Given the description of an element on the screen output the (x, y) to click on. 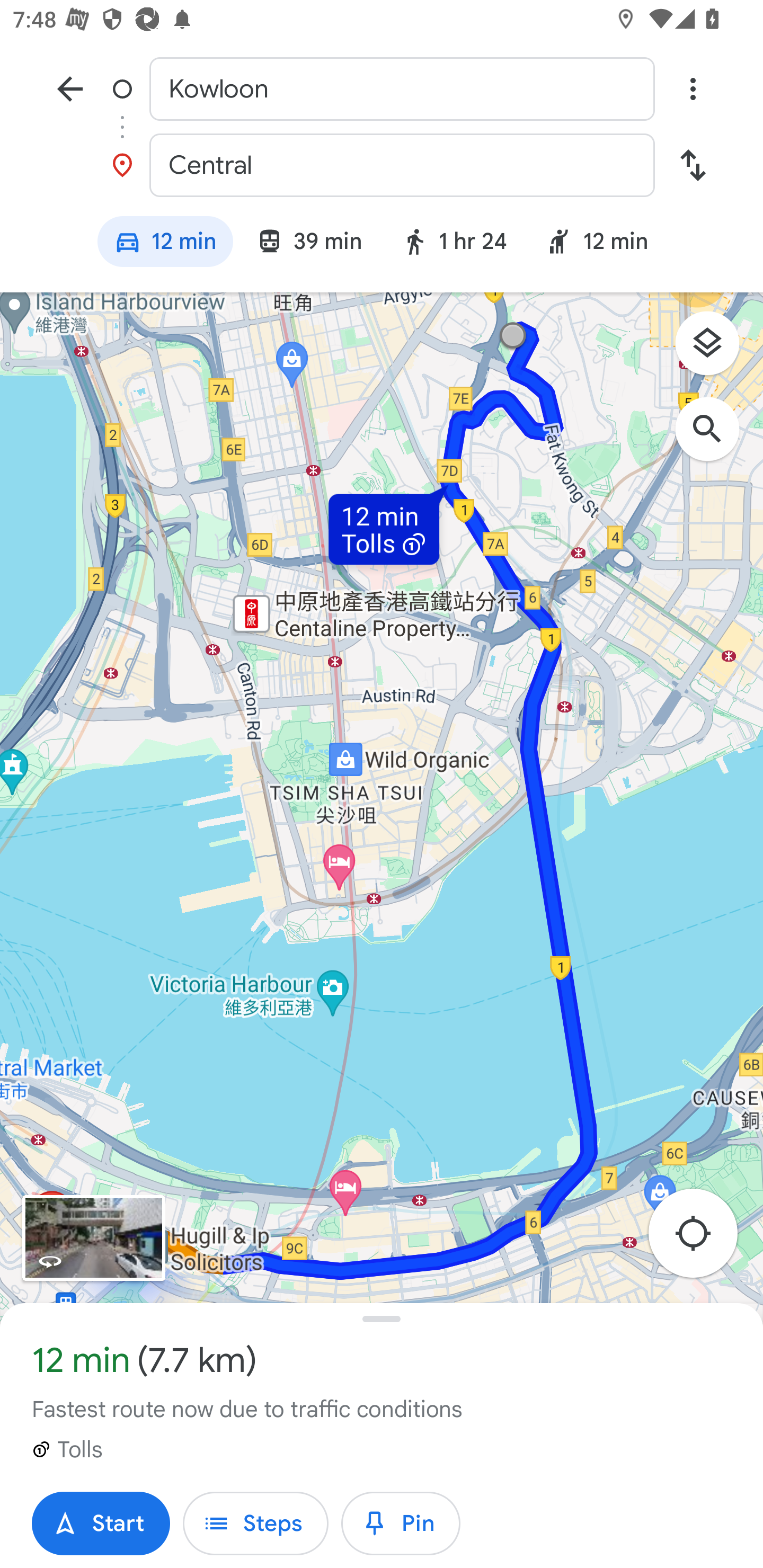
Navigate up (70, 88)
Kowloon Start location, Kowloon (381, 88)
Overflow menu (692, 88)
Central Destination, Central (381, 165)
Swap start and destination (692, 165)
Transit mode: 39 min 39 min (308, 244)
Walking mode: 1 hr 24 1 hr 24 (453, 244)
Ride service: 12 min 12 min (605, 244)
Layers (716, 349)
Search along route (716, 438)
Re-center map to your location (702, 1238)
Steps Steps Steps (255, 1522)
Pin trip Pin Pin trip (400, 1522)
